Given the description of an element on the screen output the (x, y) to click on. 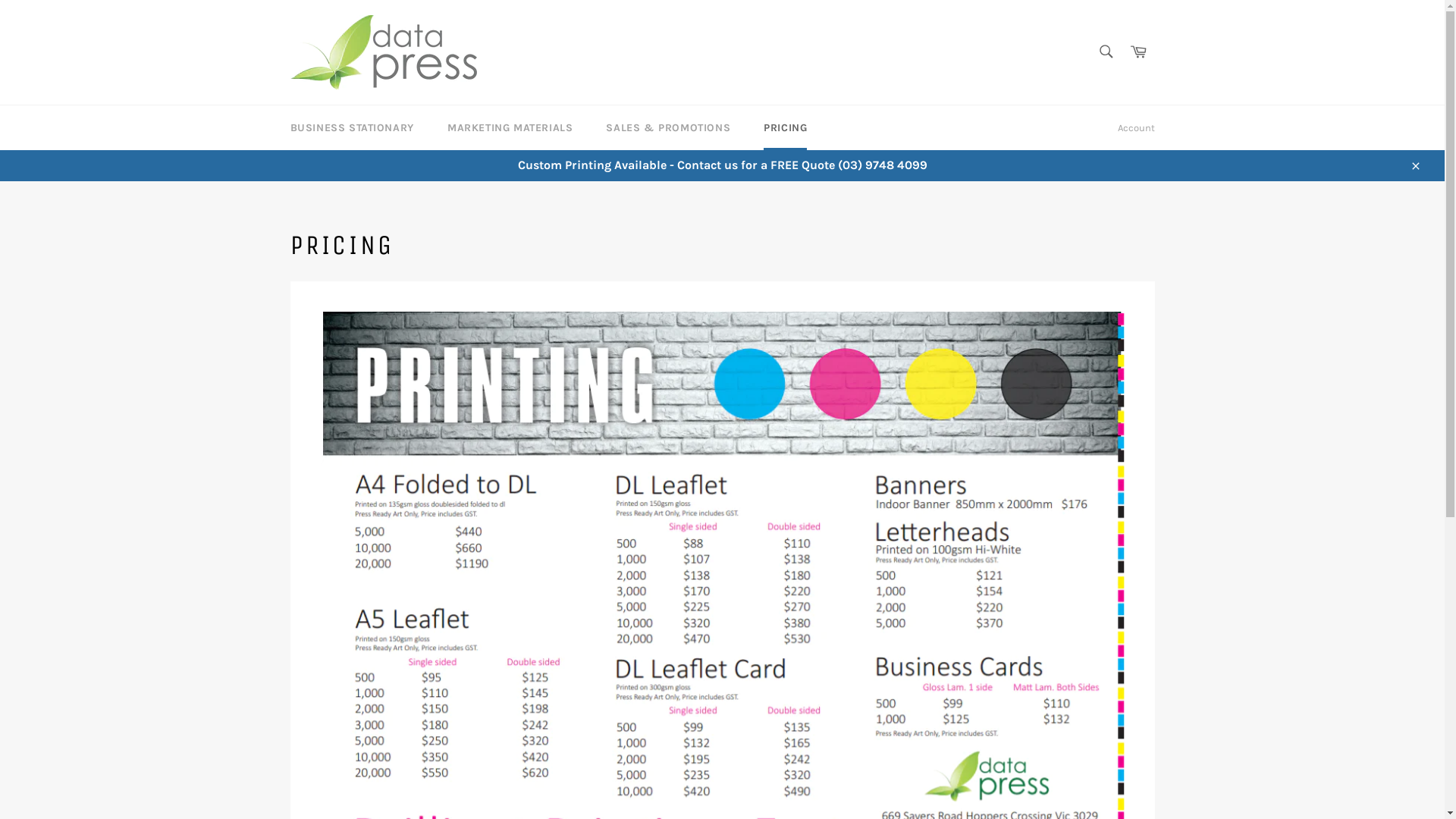
Close Element type: text (1414, 165)
SALES & PROMOTIONS Element type: text (667, 127)
MARKETING MATERIALS Element type: text (509, 127)
BUSINESS STATIONARY Element type: text (351, 127)
Search Element type: text (1105, 50)
PRICING Element type: text (785, 127)
Account Element type: text (1136, 128)
Cart Element type: text (1138, 51)
